Given the description of an element on the screen output the (x, y) to click on. 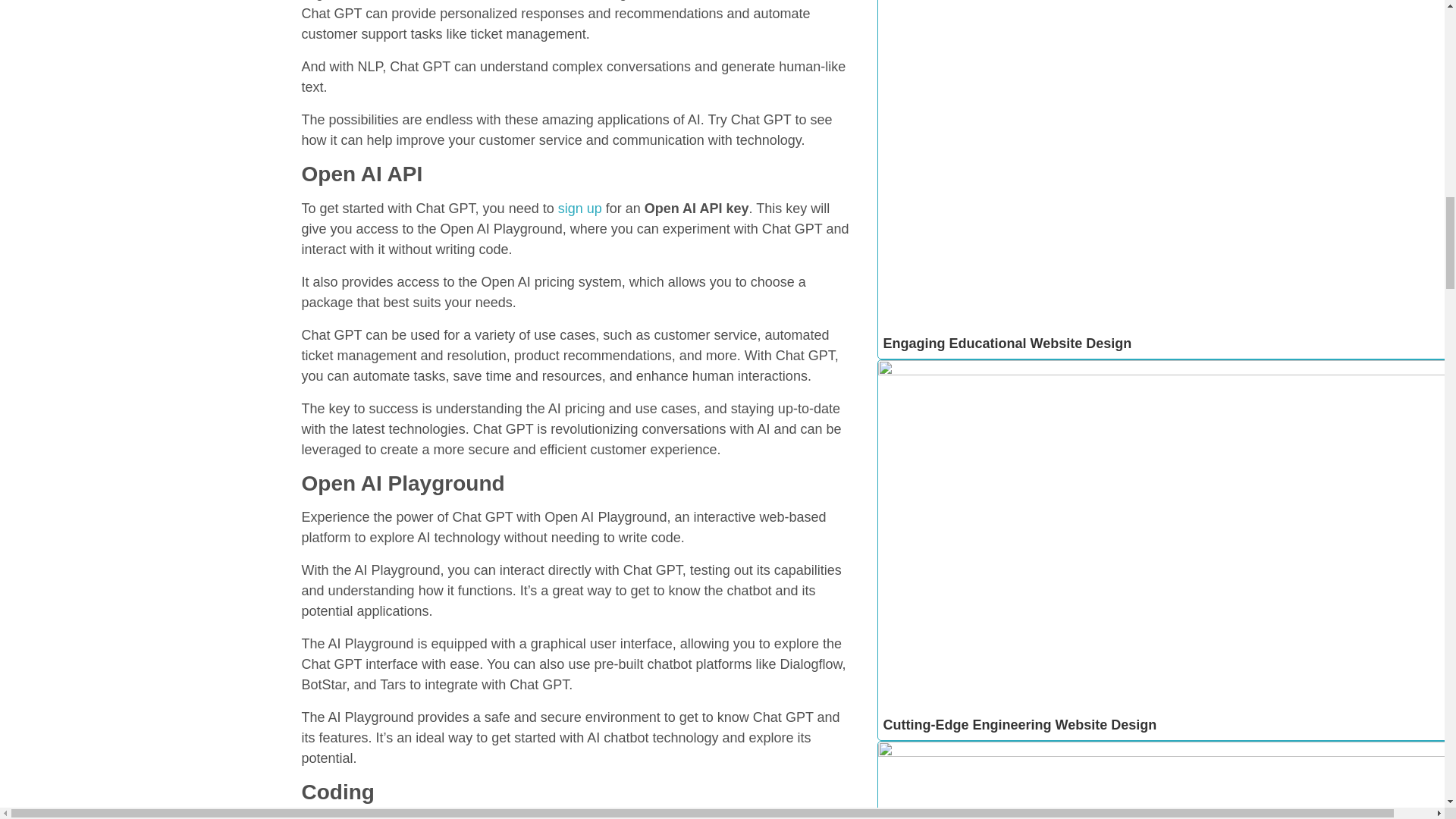
sign up (579, 208)
